Given the description of an element on the screen output the (x, y) to click on. 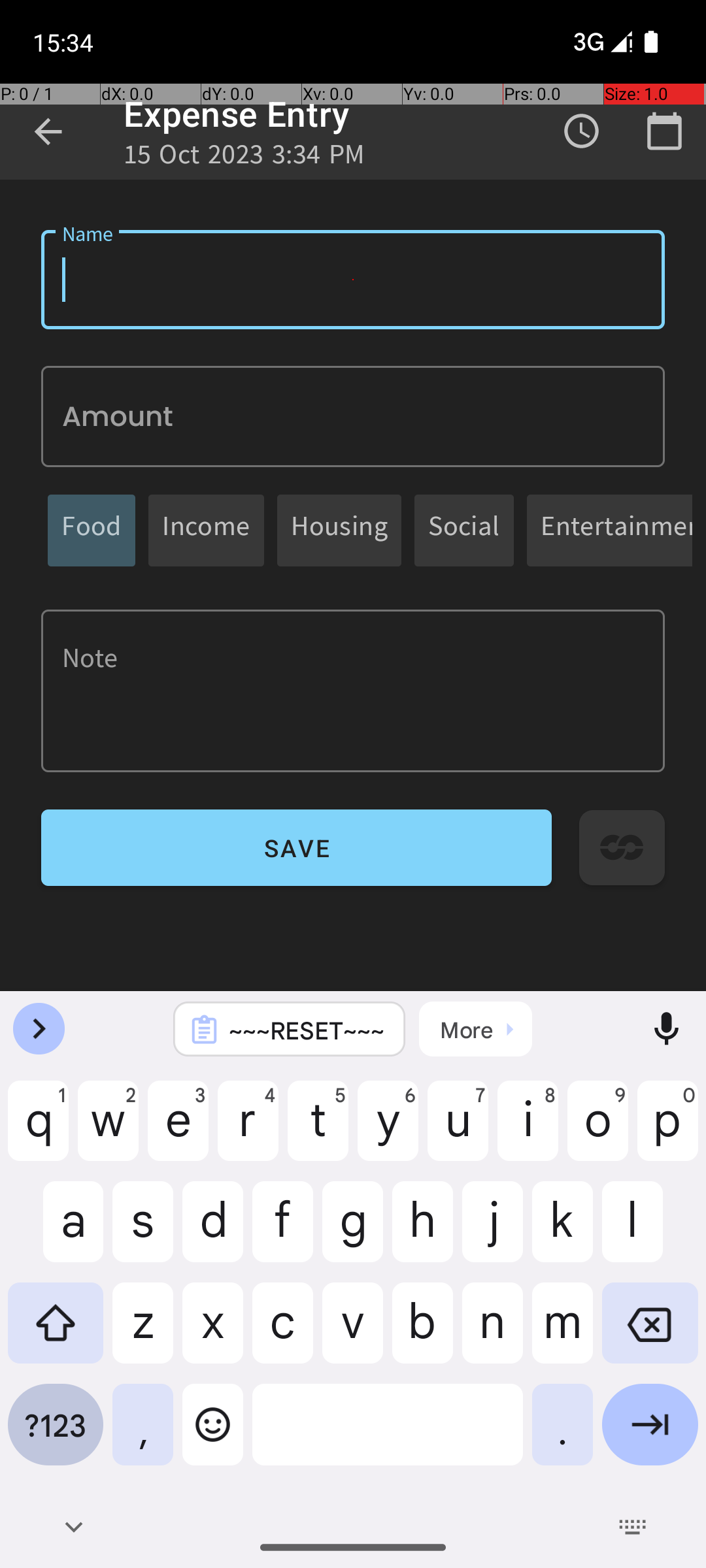
Click to open Clipboard Element type: android.view.ViewGroup (475, 1028)
~~~RESET~~~ Element type: android.widget.TextView (306, 1029)
